Given the description of an element on the screen output the (x, y) to click on. 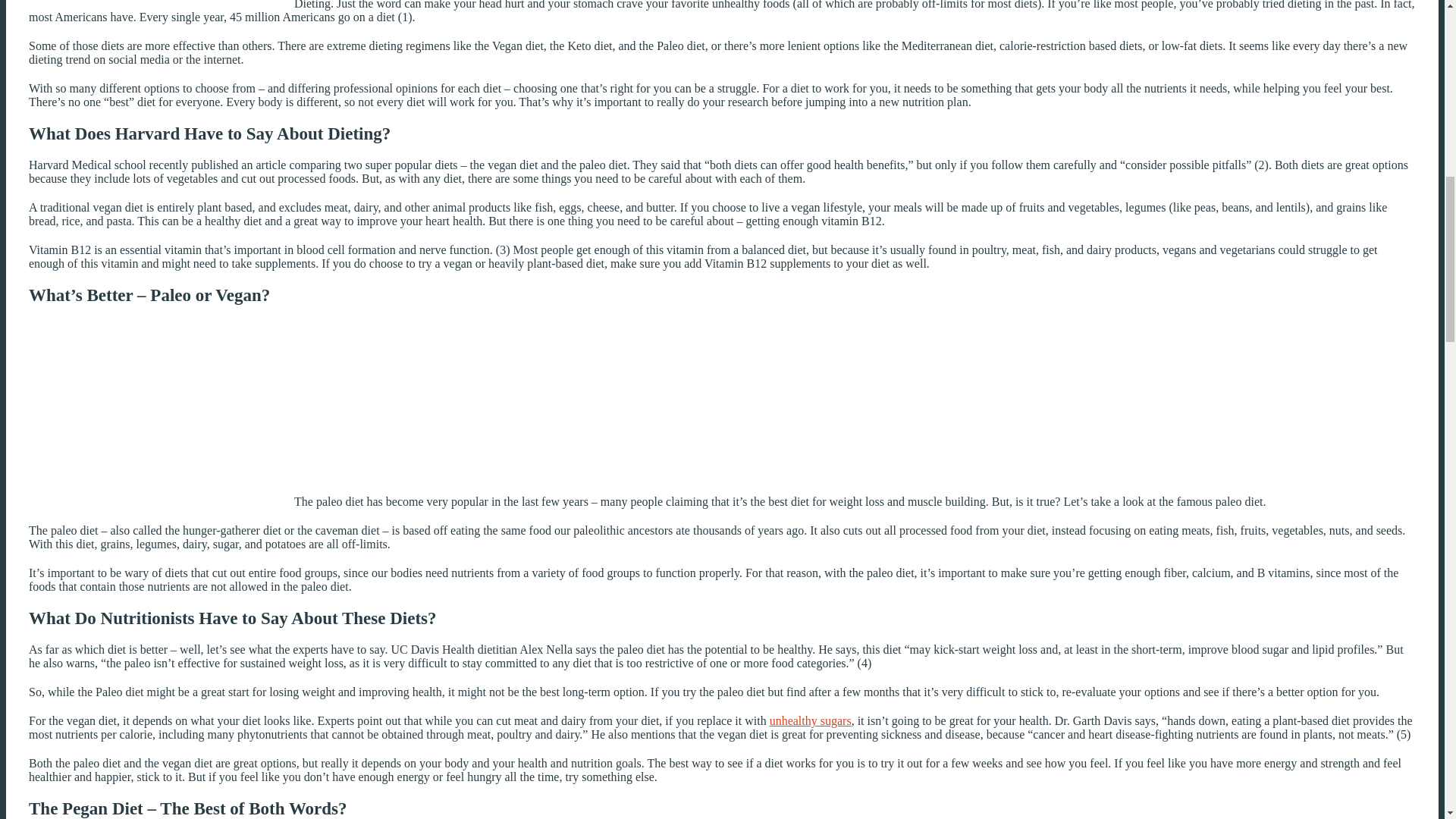
unhealthy sugars (810, 720)
